Given the description of an element on the screen output the (x, y) to click on. 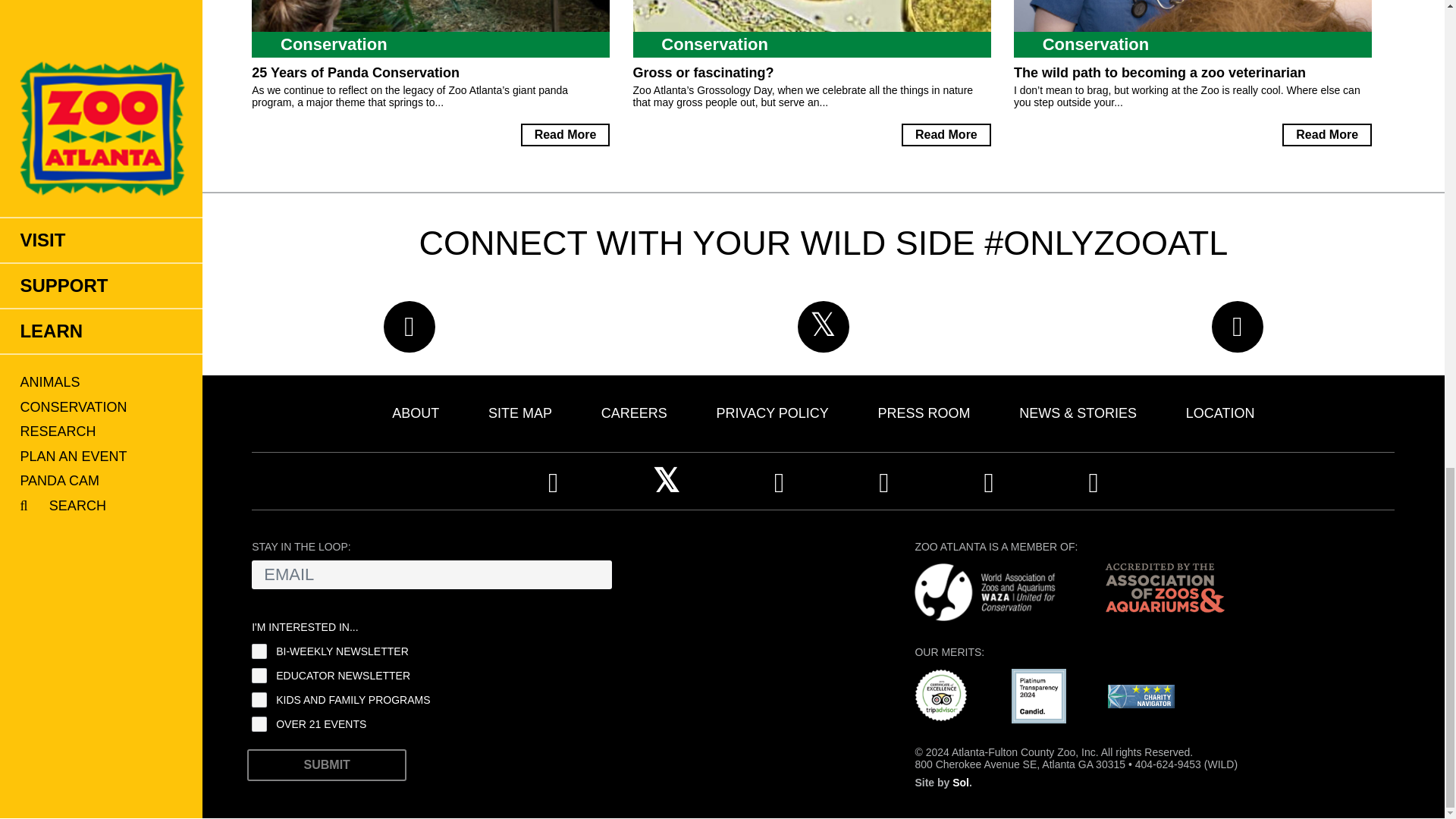
Over 21 Events (258, 724)
Kids and Family Programs (258, 699)
Bi-weekly Newsletter (258, 651)
Submit (326, 765)
Educator Newsletter (258, 675)
